Given the description of an element on the screen output the (x, y) to click on. 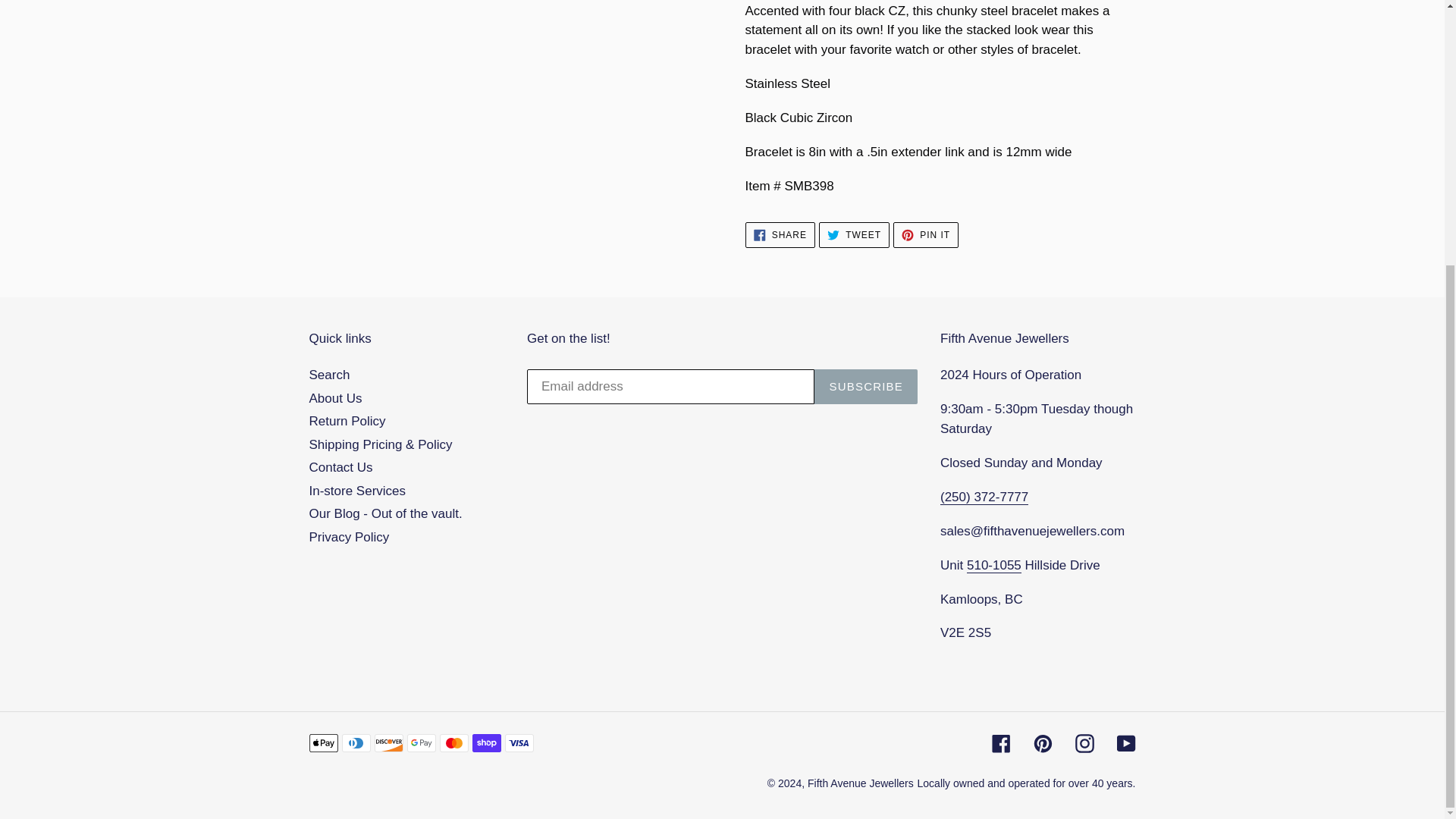
Discover (388, 742)
Google Pay (420, 742)
Apple Pay (322, 742)
Visa (519, 742)
Diners Club (354, 742)
Shop Pay (485, 742)
Mastercard (453, 742)
